Given the description of an element on the screen output the (x, y) to click on. 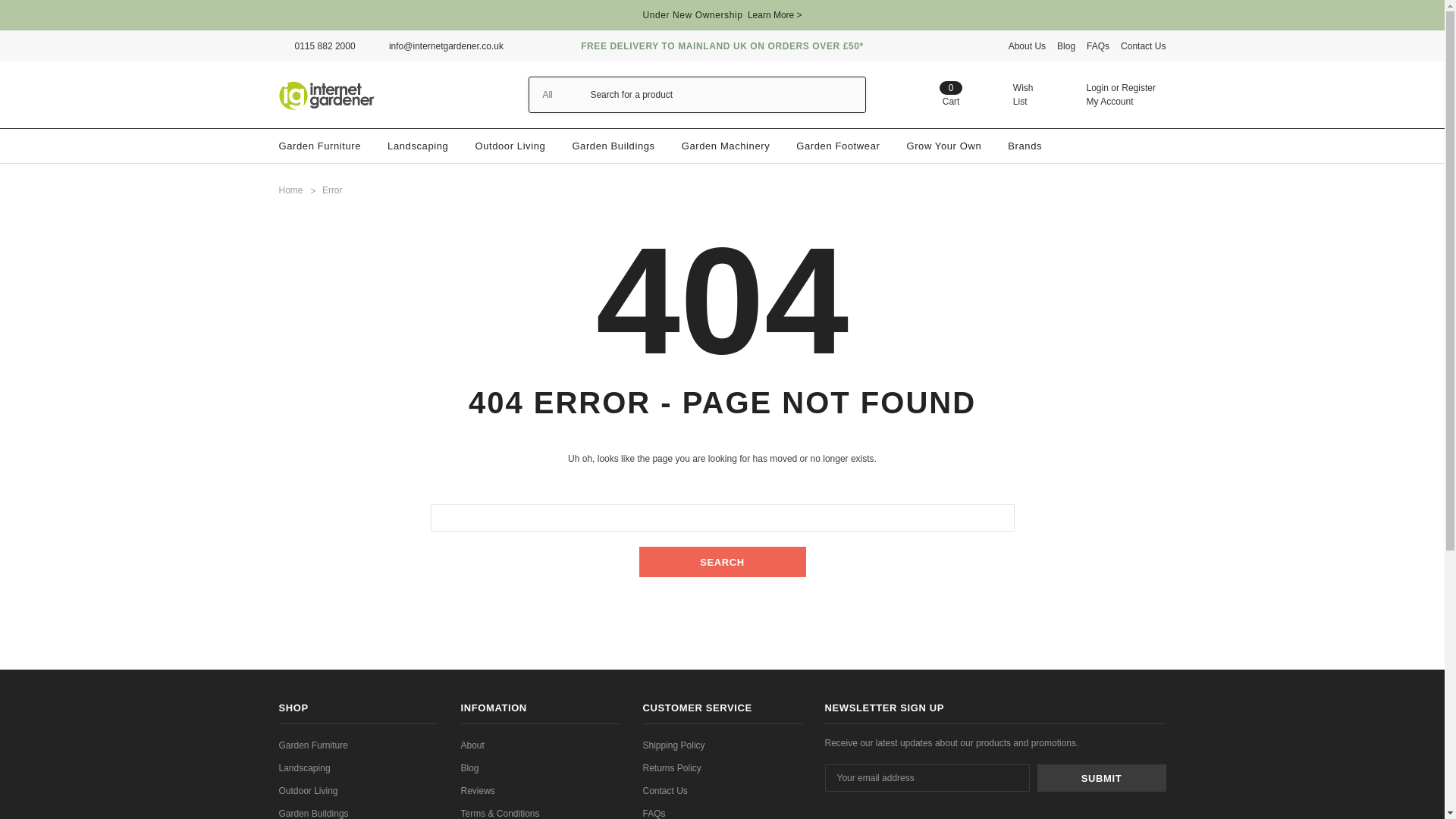
Contact Us (1143, 46)
Wish List (936, 94)
FAQs (1009, 94)
Submit (1103, 46)
About Us (326, 94)
My Account (1101, 777)
Register (1033, 46)
Login (1109, 101)
Garden Furniture (1138, 88)
0115 882 2000 (1097, 88)
Search (320, 145)
Blog (317, 45)
